Given the description of an element on the screen output the (x, y) to click on. 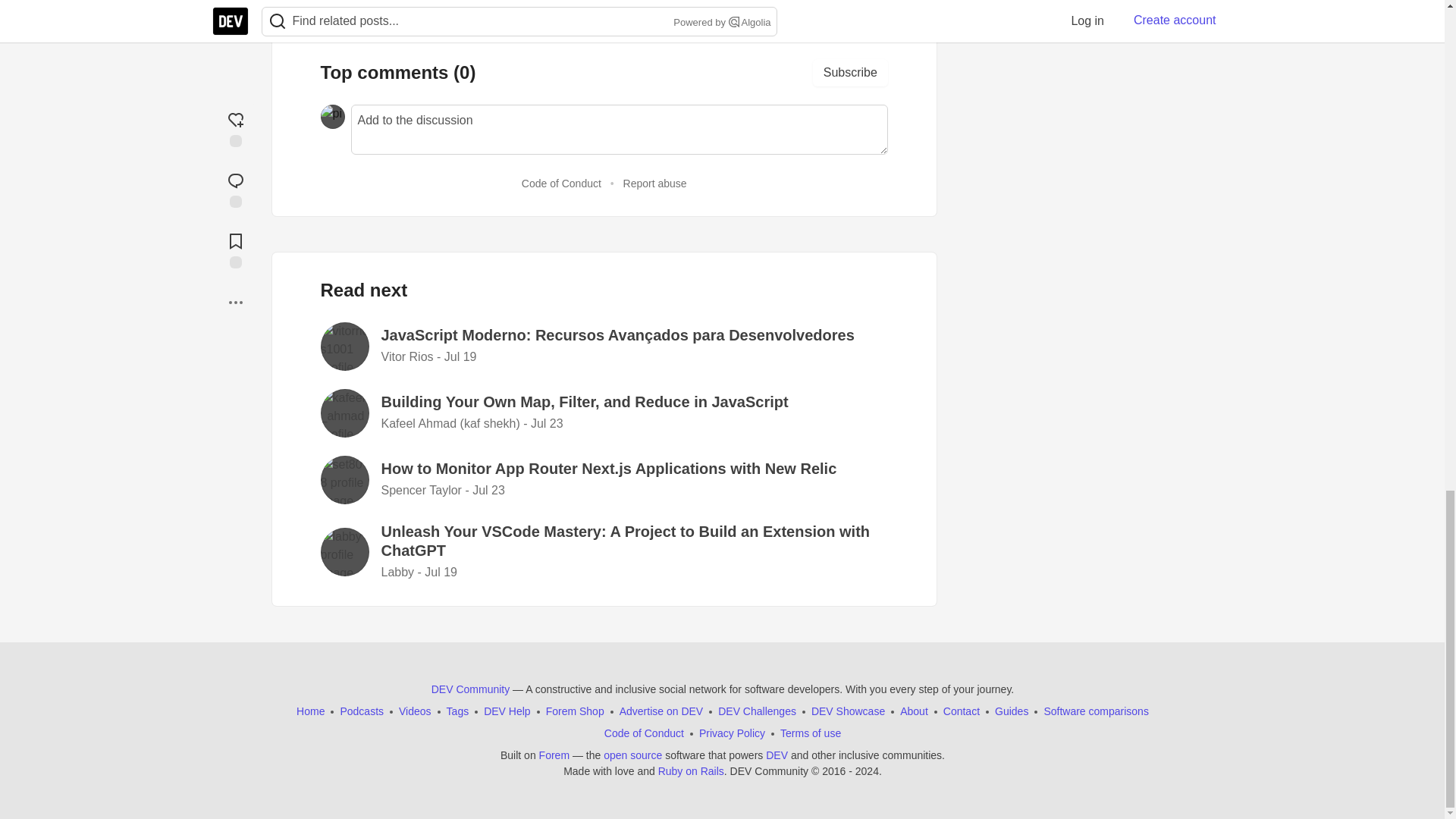
The key is here (371, 3)
